Given the description of an element on the screen output the (x, y) to click on. 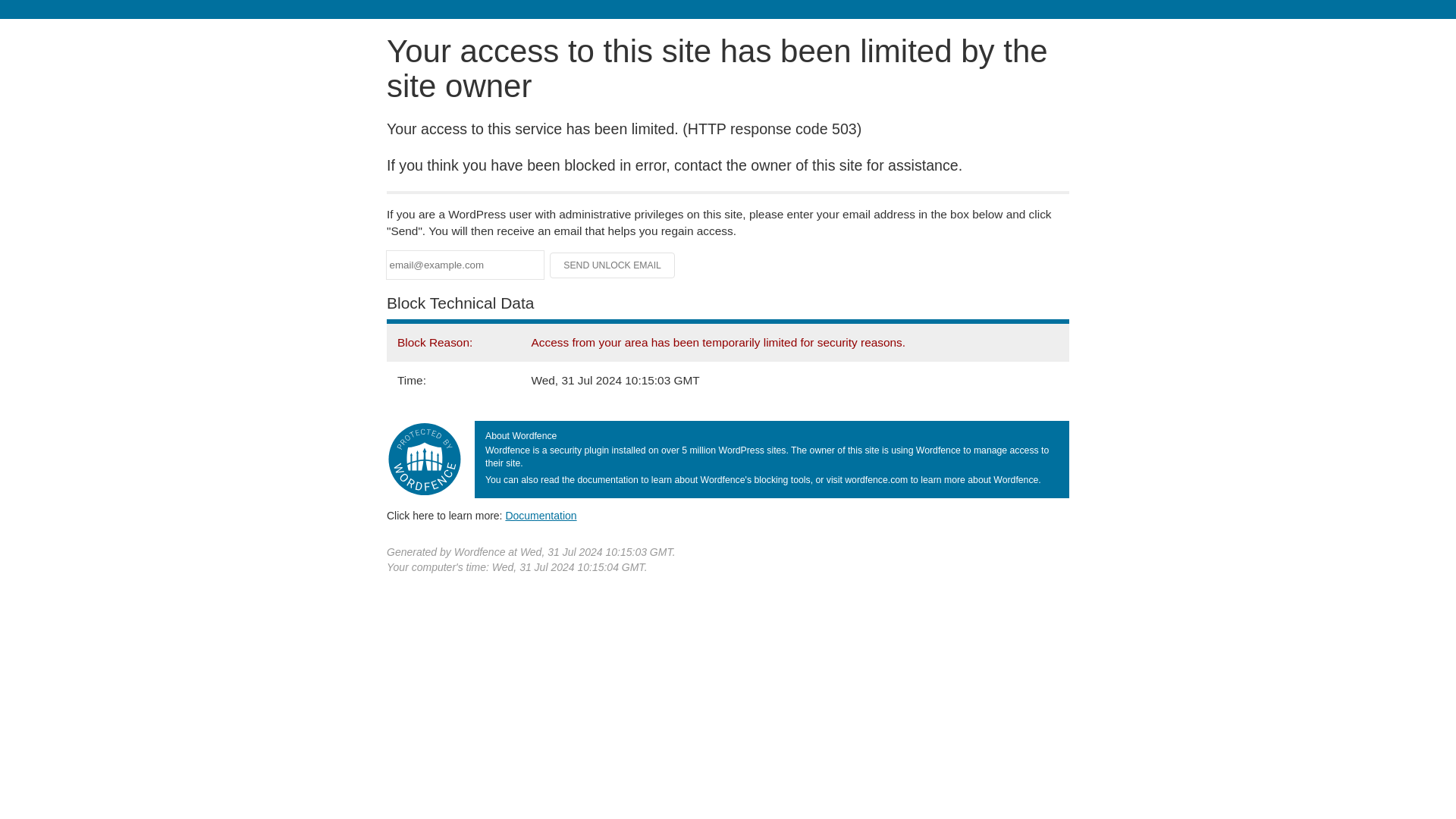
Send Unlock Email (612, 265)
Documentation (540, 515)
Send Unlock Email (612, 265)
